Given the description of an element on the screen output the (x, y) to click on. 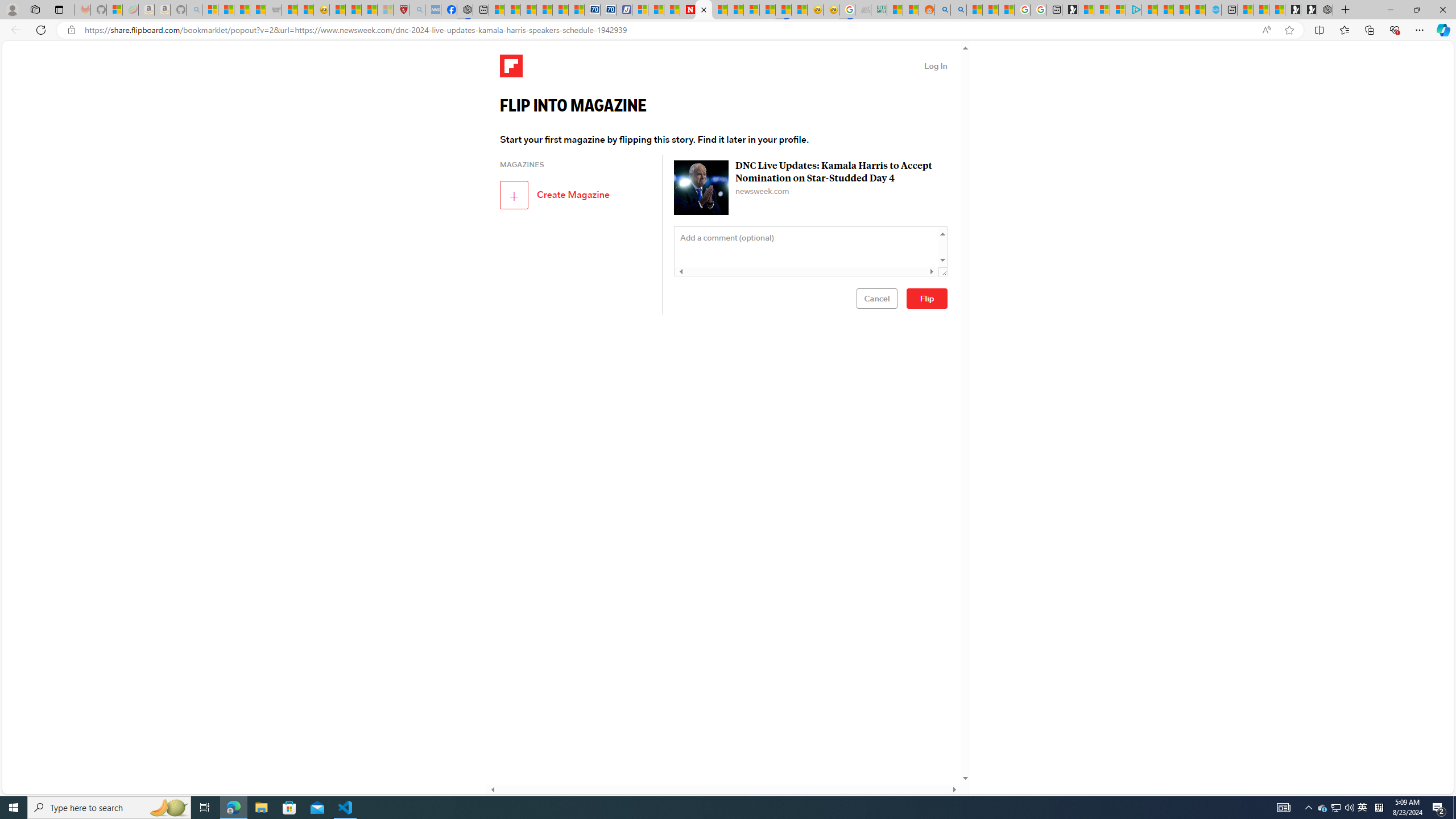
DITOGAMES AG Imprint (878, 9)
Cancel (876, 298)
Flip into magazine - logged out (703, 9)
Address and search bar (669, 29)
Utah sues federal government - Search (958, 9)
